Given the description of an element on the screen output the (x, y) to click on. 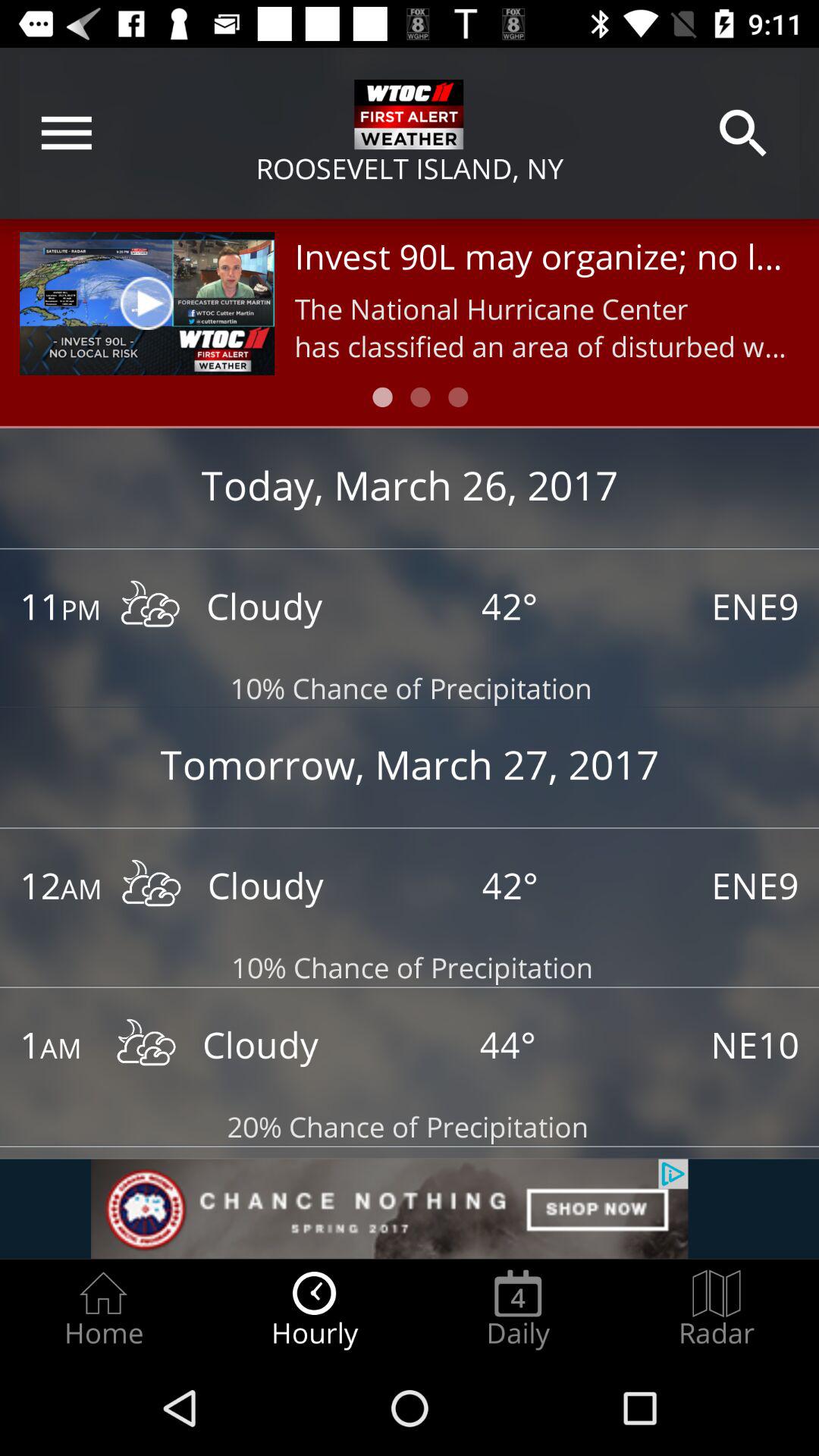
open daily icon (518, 1309)
